Given the description of an element on the screen output the (x, y) to click on. 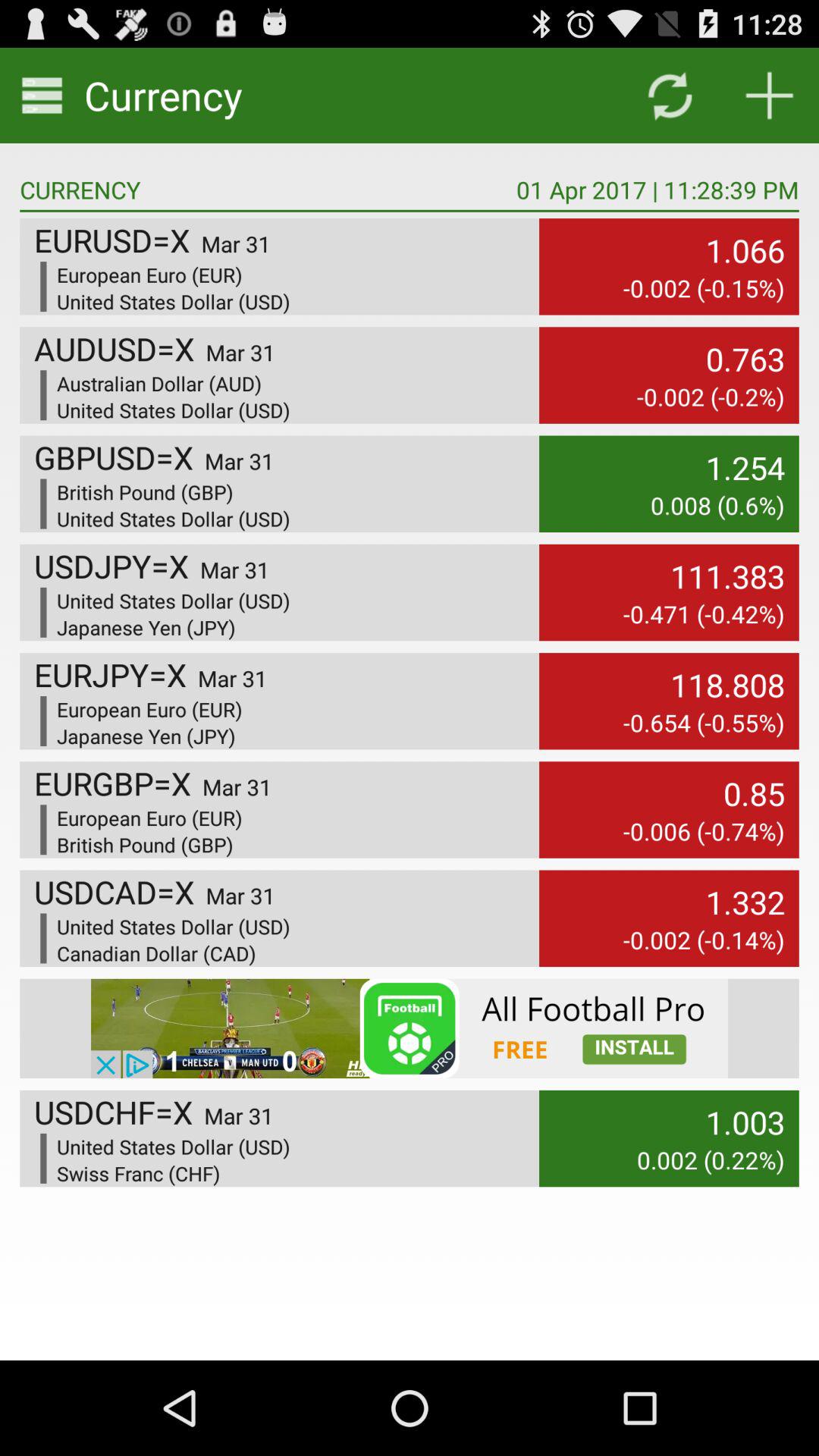
add a currency exchange pair (769, 95)
